Given the description of an element on the screen output the (x, y) to click on. 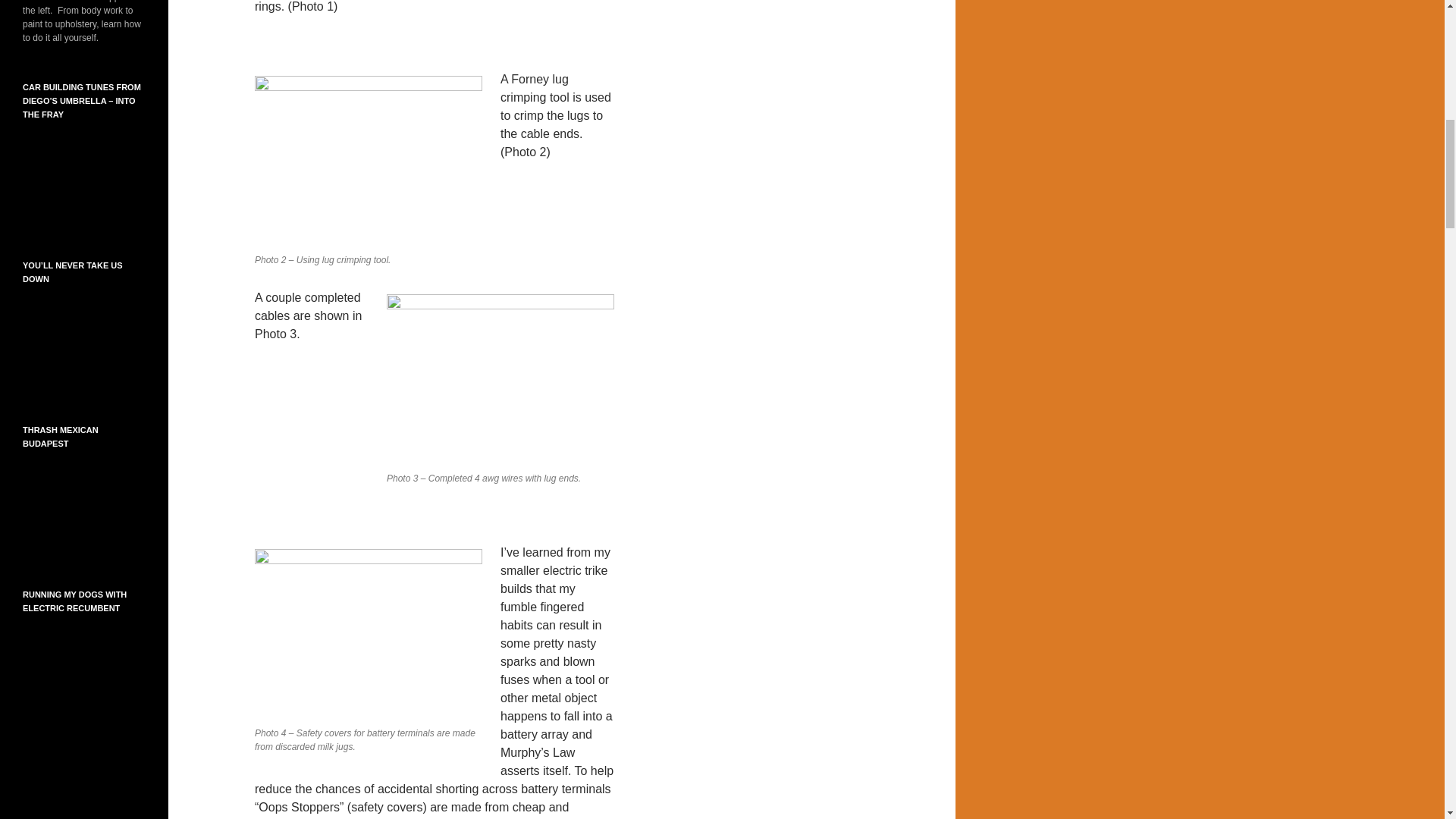
57 FORD (816, 343)
55 Plymouth (816, 153)
Jawa 125 (816, 27)
52 Ford with hemi engine (816, 533)
23 T-BUCKET (816, 722)
